Given the description of an element on the screen output the (x, y) to click on. 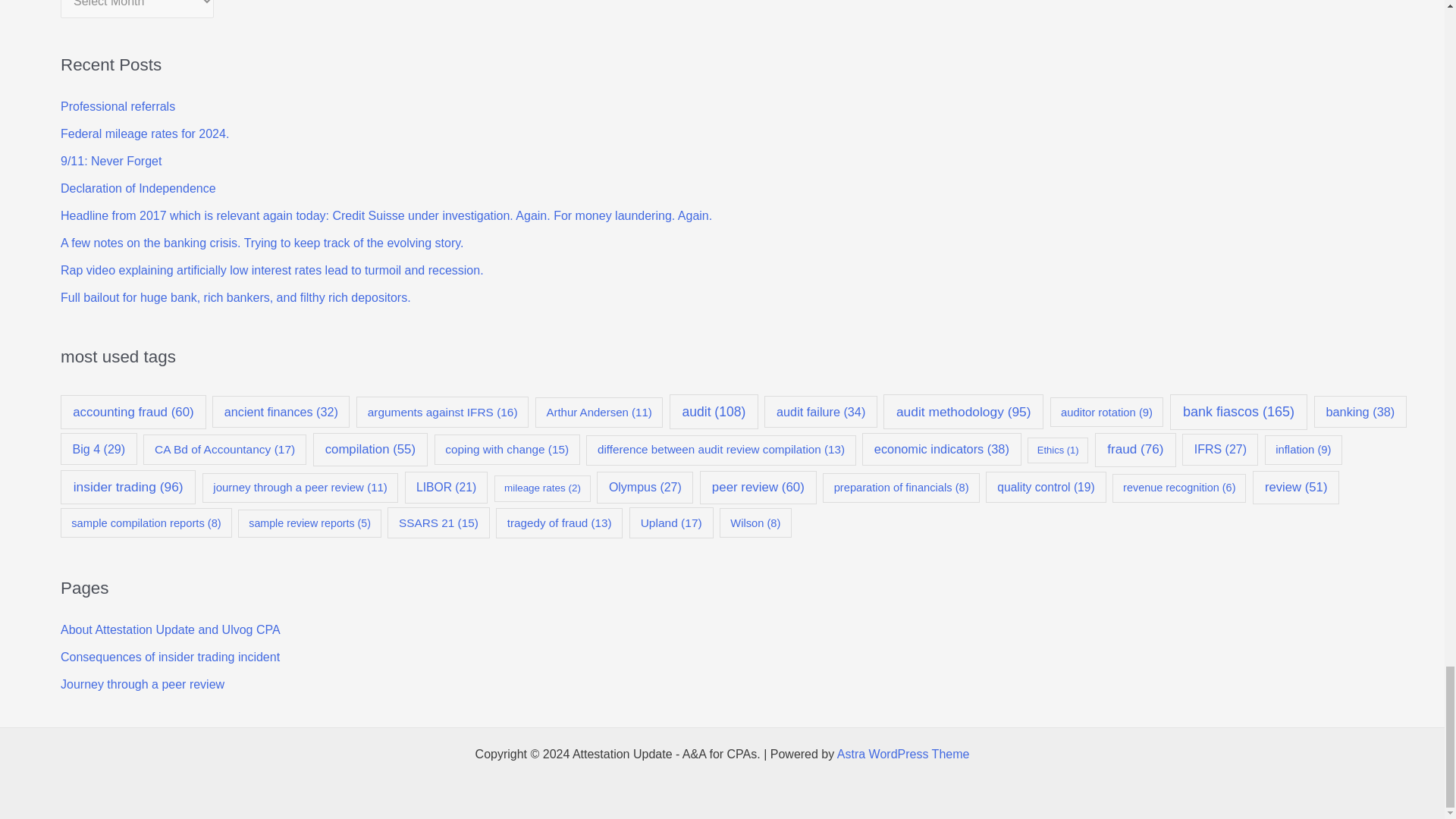
Declaration of Independence (138, 187)
Professional referrals (117, 106)
Federal mileage rates for 2024. (144, 133)
